Given the description of an element on the screen output the (x, y) to click on. 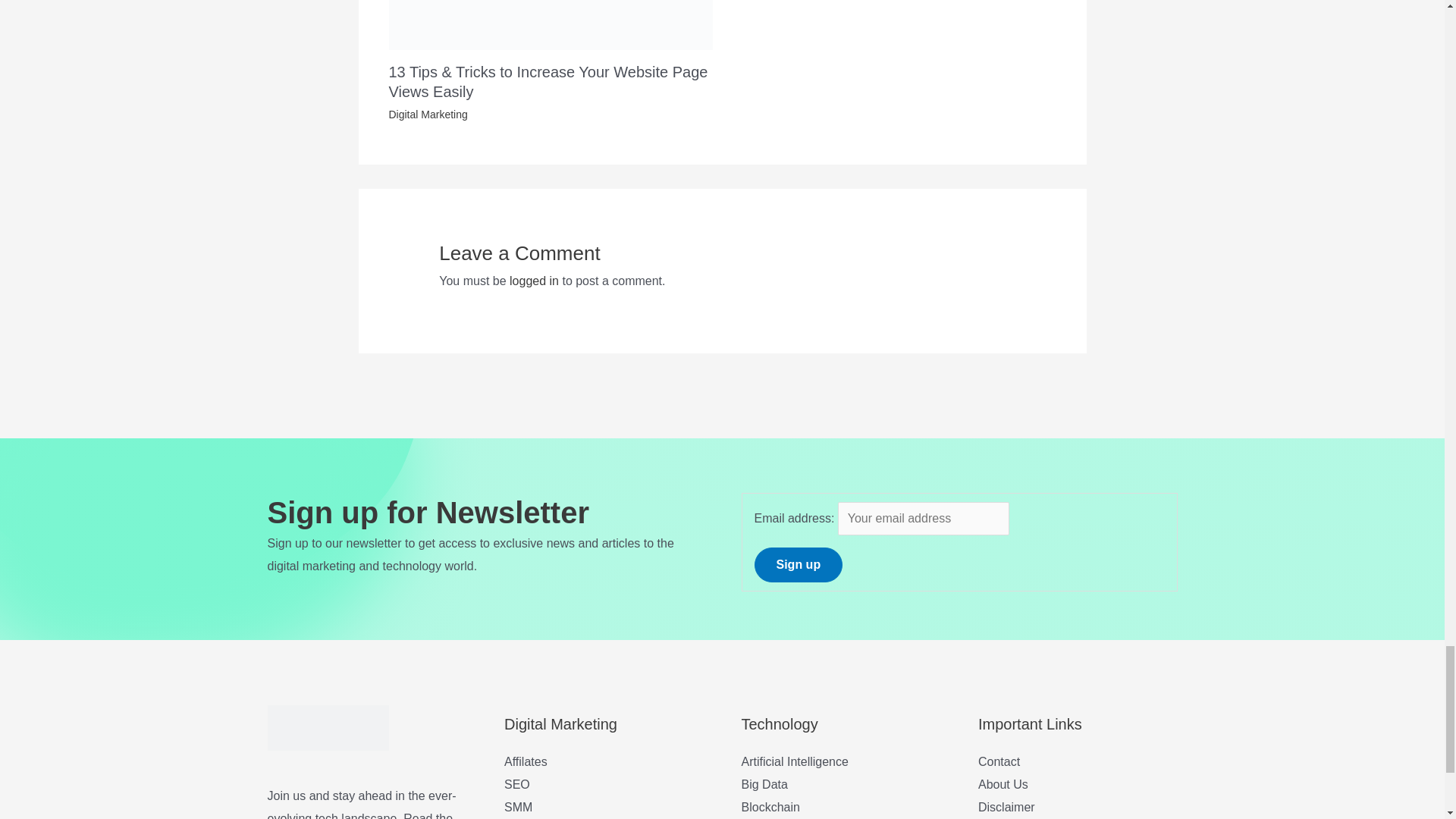
Sign up (798, 564)
